Given the description of an element on the screen output the (x, y) to click on. 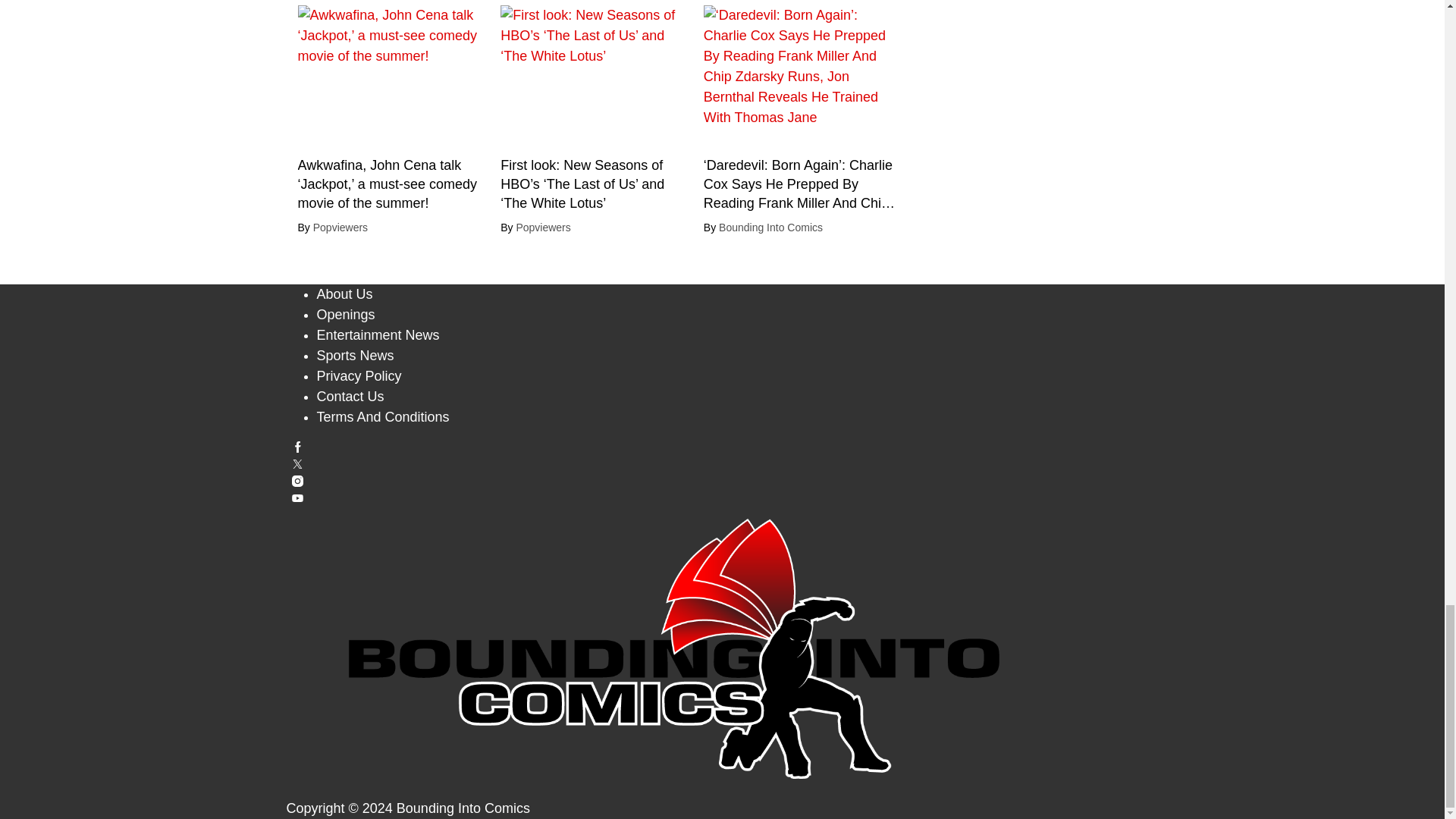
Subscribe to our YouTube channel (722, 498)
Follow us on Facebook (722, 446)
Follow us on Instagram (722, 480)
Follow us on Twitter (722, 464)
